Given the description of an element on the screen output the (x, y) to click on. 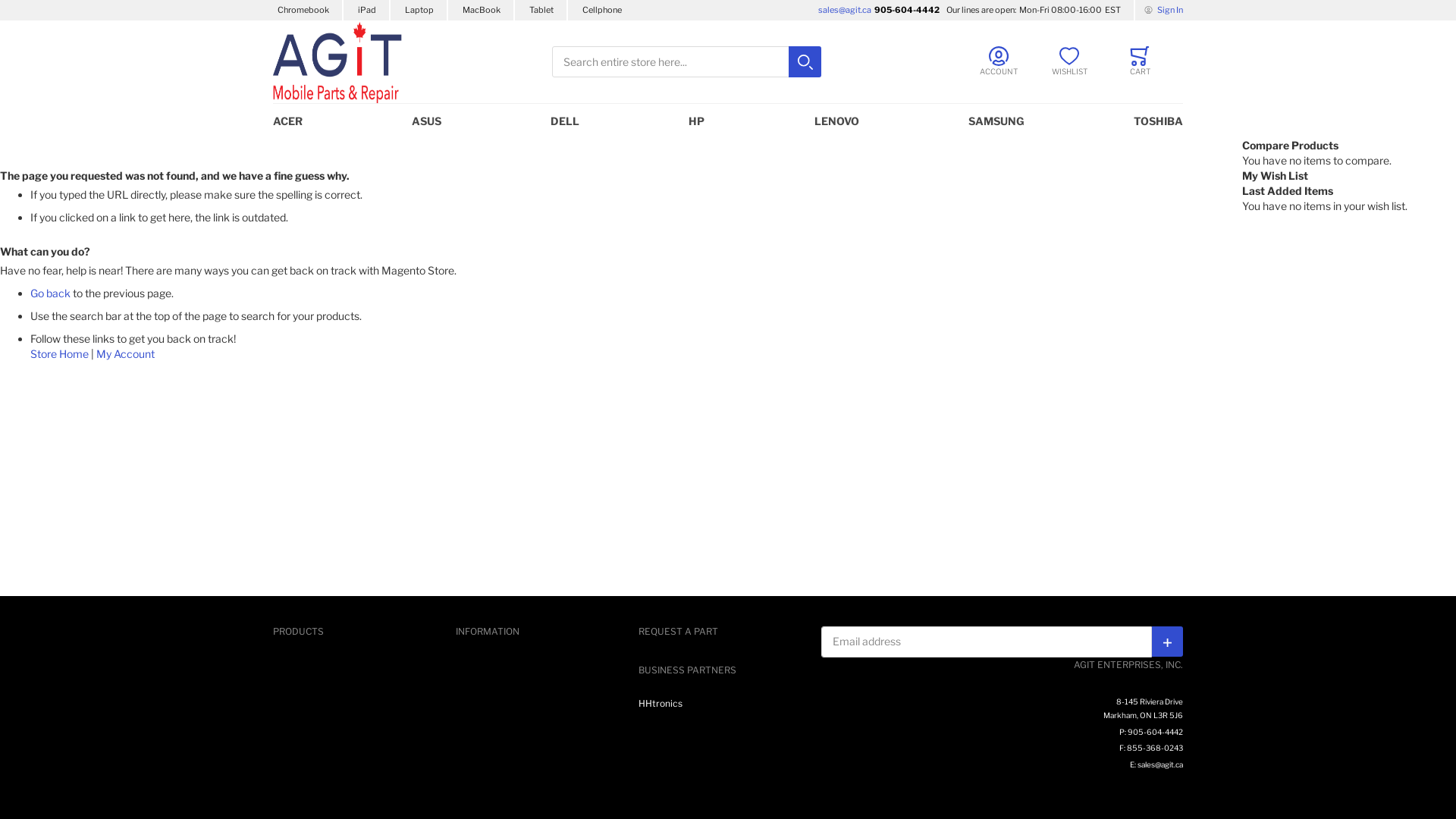
ACER Element type: text (293, 120)
Search Element type: text (807, 61)
HHtronics Element type: text (660, 703)
HP Element type: text (696, 120)
ACCOUNT Element type: text (998, 61)
WISHLIST Element type: text (1068, 61)
TOSHIBA Element type: text (1152, 120)
Sign In Element type: text (1163, 10)
Store Home Element type: text (59, 353)
CART Element type: text (1139, 61)
sales@agit.ca Element type: text (1160, 763)
Go back Element type: text (50, 292)
LENOVO Element type: text (836, 120)
Subscribe Element type: text (1167, 641)
My Account Element type: text (125, 353)
905-604-4442 Element type: text (906, 10)
sales@agit.ca   Element type: text (846, 10)
SAMSUNG Element type: text (996, 120)
ASUS Element type: text (425, 120)
905-604-4442 Element type: text (1155, 731)
DELL Element type: text (564, 120)
